Given the description of an element on the screen output the (x, y) to click on. 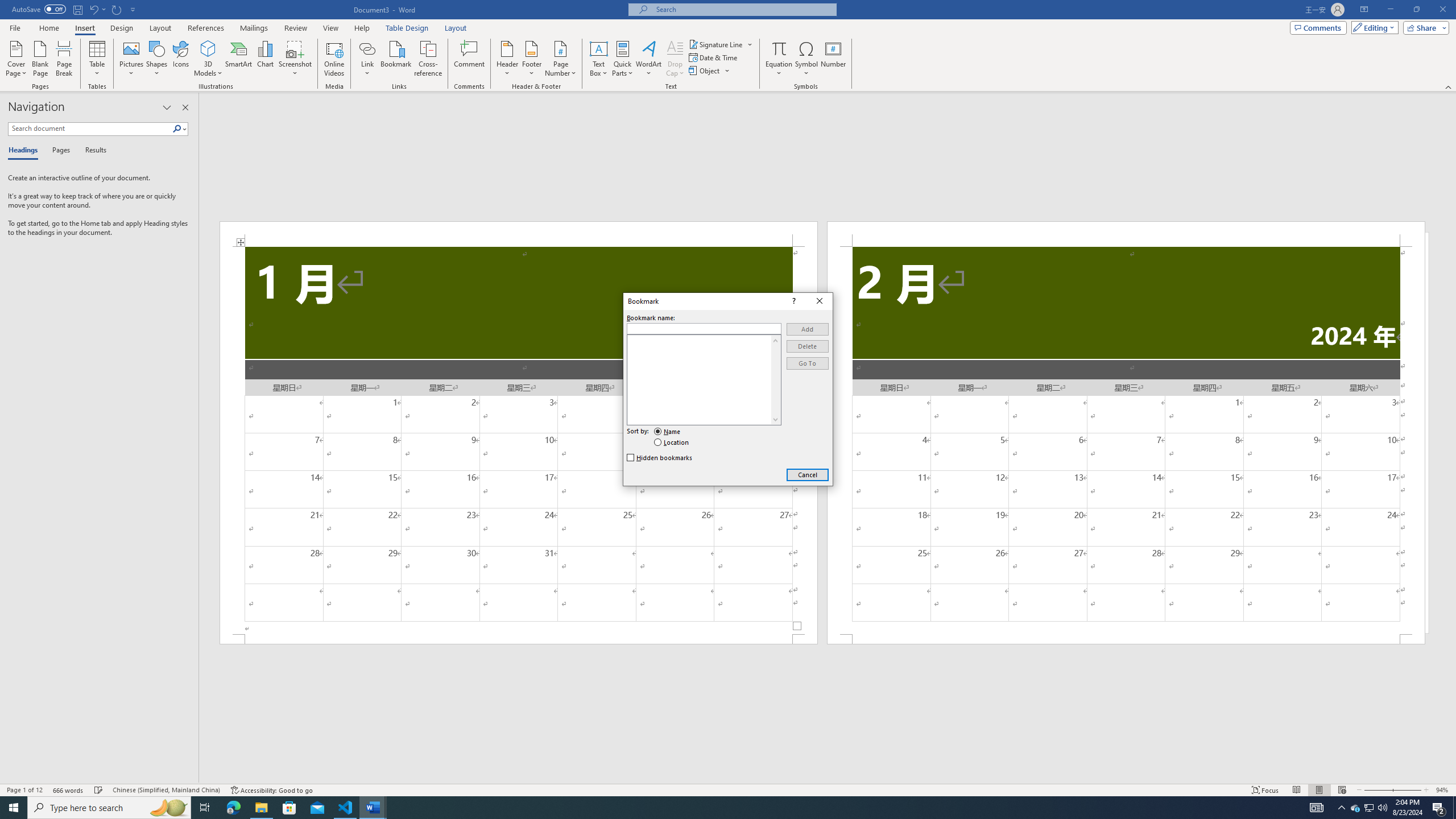
Layout (455, 28)
Action Center, 2 new notifications (1439, 807)
Drop Cap (674, 58)
AutomationID: 18 (775, 379)
Signature Line (721, 44)
Object... (709, 69)
Name (667, 431)
Delete (807, 345)
Review (295, 28)
Customize Quick Access Toolbar (133, 9)
Class: MsoCommandBar (728, 789)
Results (91, 150)
